Given the description of an element on the screen output the (x, y) to click on. 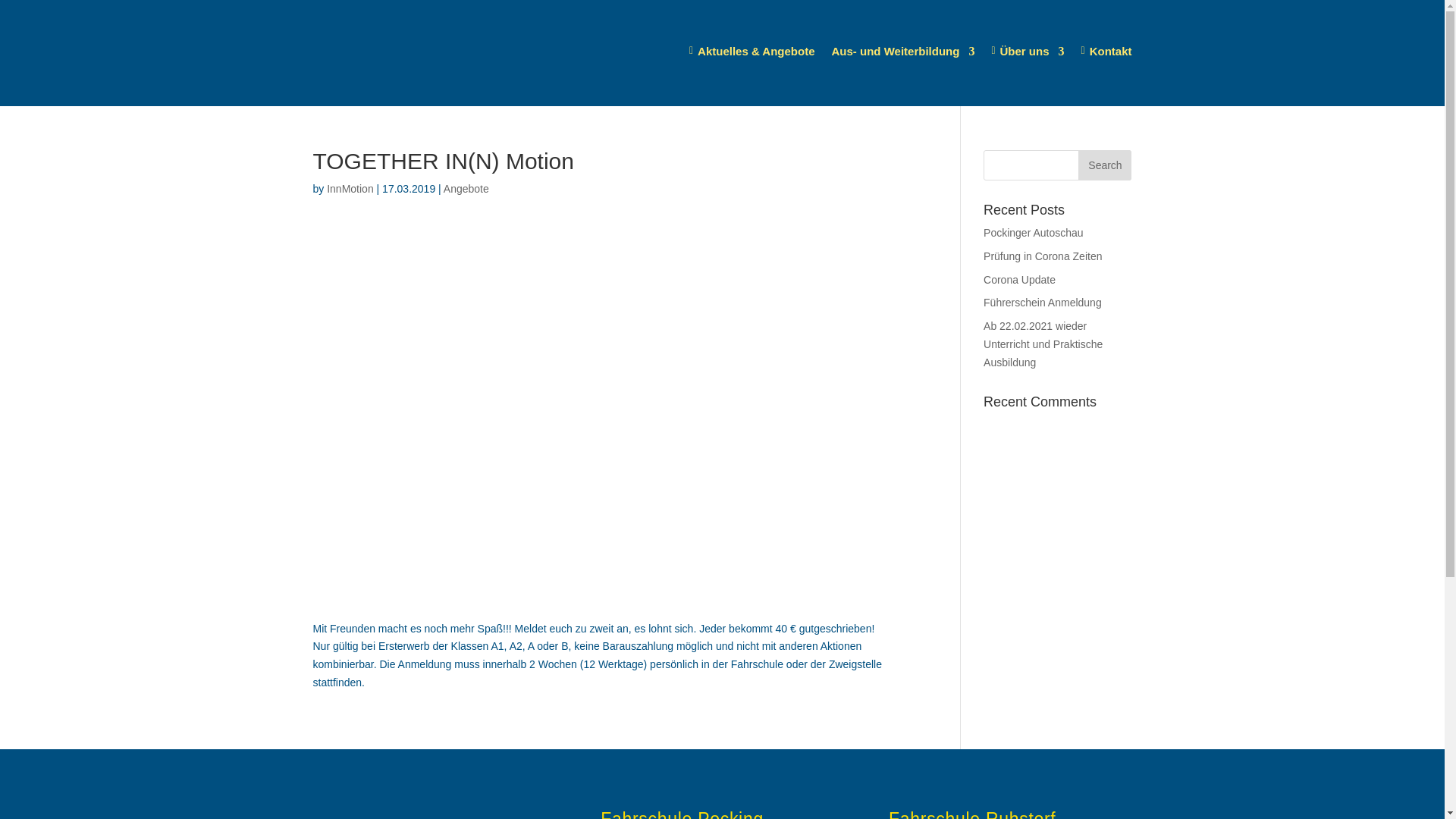
Aktuelles & Angebote Element type: text (752, 51)
Ab 22.02.2021 wieder Unterricht und Praktische Ausbildung Element type: text (1042, 344)
Pockinger Autoschau Element type: text (1033, 232)
InnMotion Element type: text (349, 188)
Aus- und Weiterbildung Element type: text (903, 51)
Corona Update Element type: text (1019, 279)
Search Element type: text (1104, 165)
Angebote Element type: text (466, 188)
Kontakt Element type: text (1106, 51)
